Given the description of an element on the screen output the (x, y) to click on. 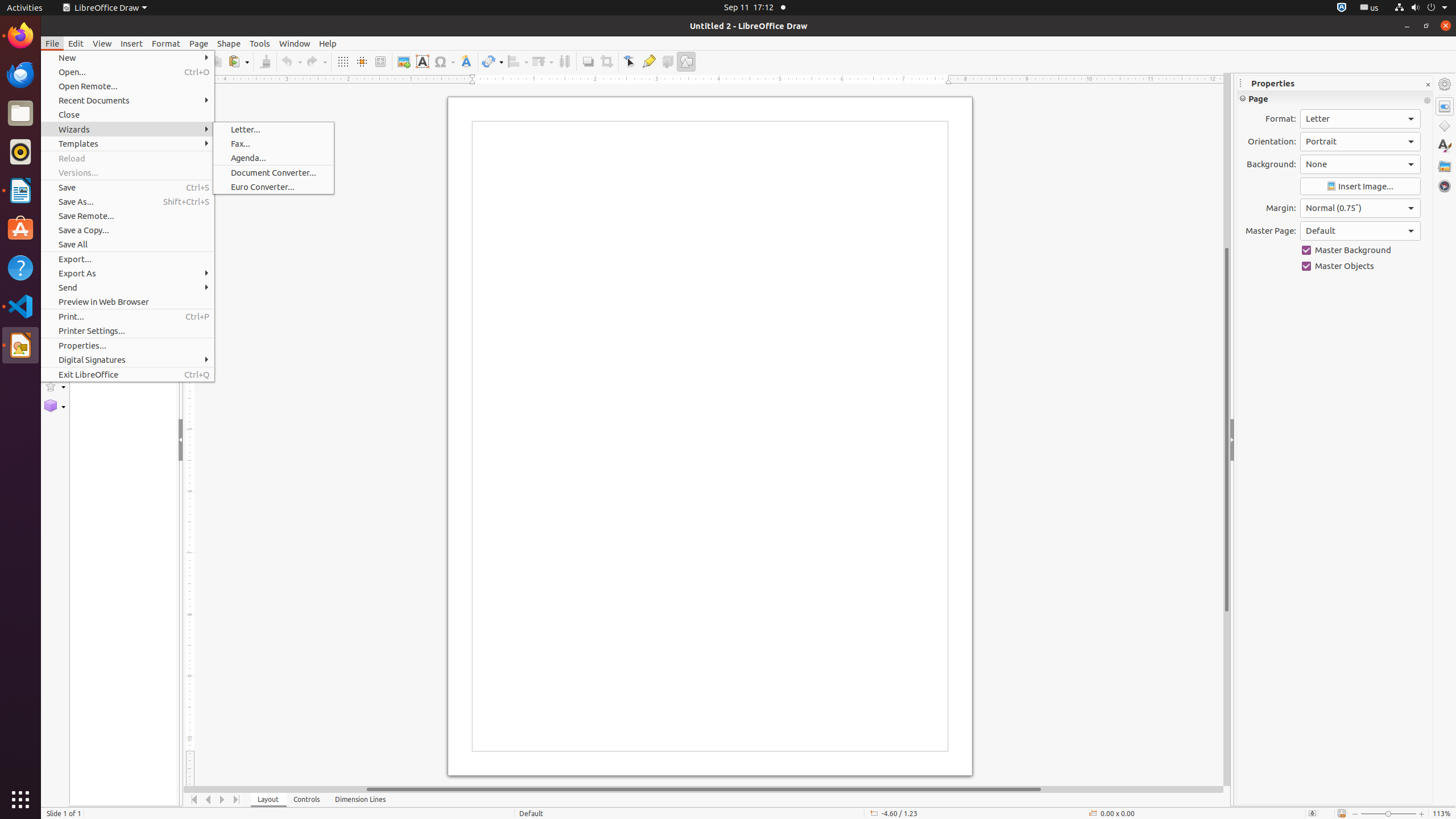
Dimension Lines Element type: page-tab (360, 799)
Digital Signatures Element type: menu (127, 359)
Format: Element type: combo-box (1360, 118)
Open Remote... Element type: menu-item (127, 86)
Close Element type: menu-item (127, 114)
